Given the description of an element on the screen output the (x, y) to click on. 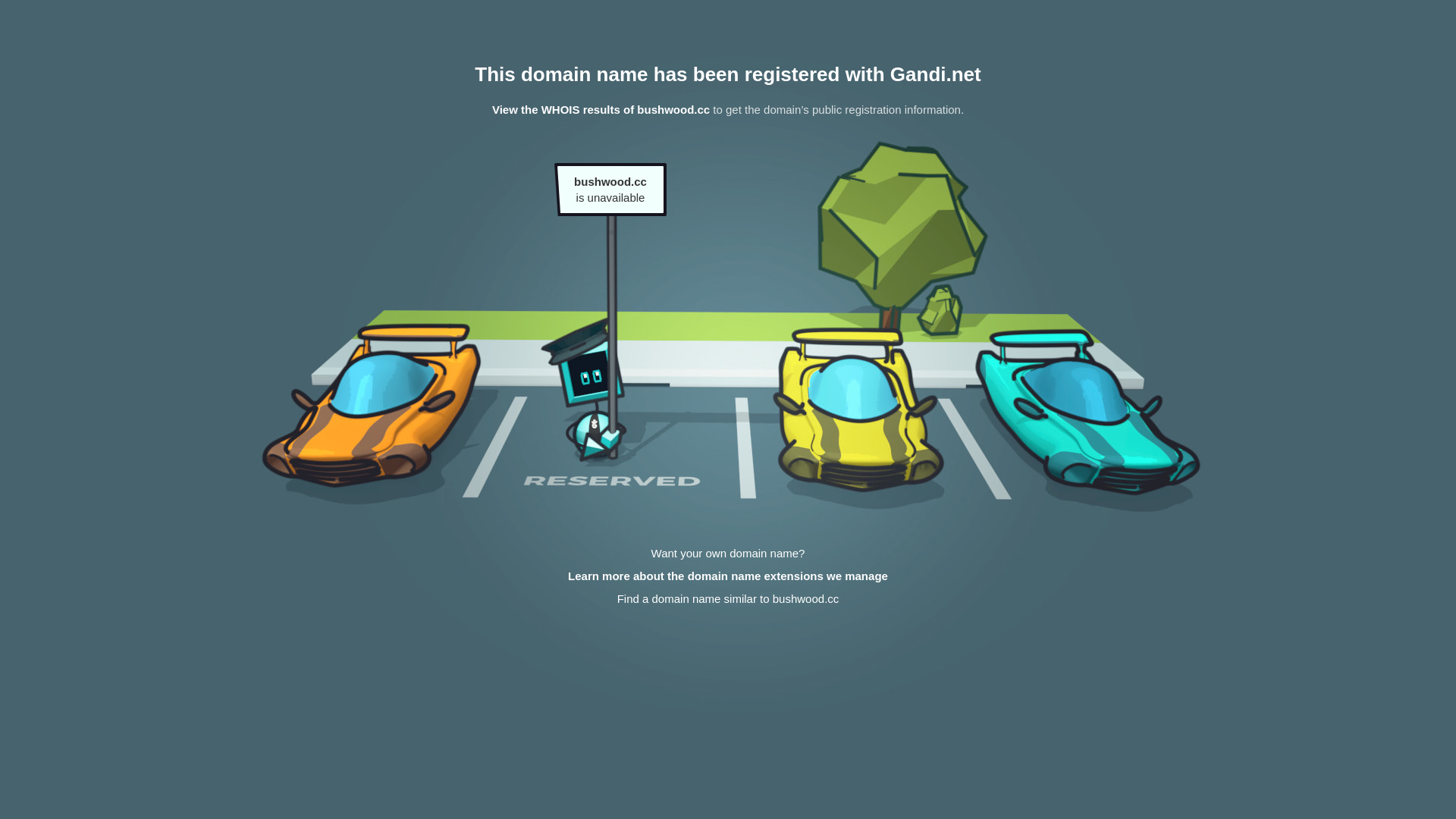
Find a domain name similar to bushwood.cc Element type: text (728, 598)
View the WHOIS results of bushwood.cc Element type: text (600, 109)
Learn more about the domain name extensions we manage Element type: text (727, 575)
